Given the description of an element on the screen output the (x, y) to click on. 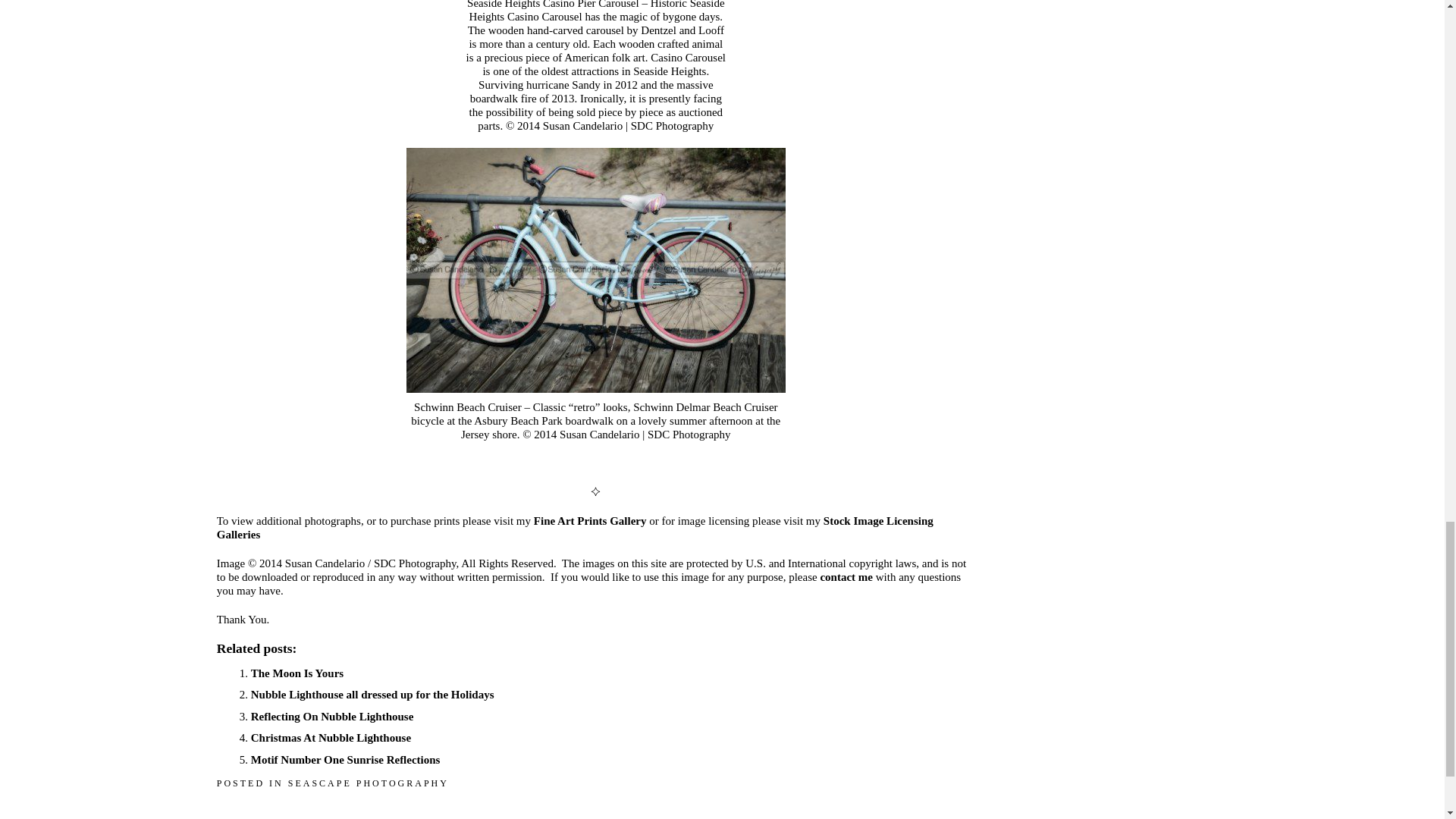
Nubble Lighthouse all dressed up for the Holidays (372, 694)
Christmas At Nubble Lighthouse (330, 737)
Reflecting On Nubble Lighthouse (331, 716)
The Moon Is Yours (296, 673)
Motif Number One Sunrise Reflections (345, 759)
